Given the description of an element on the screen output the (x, y) to click on. 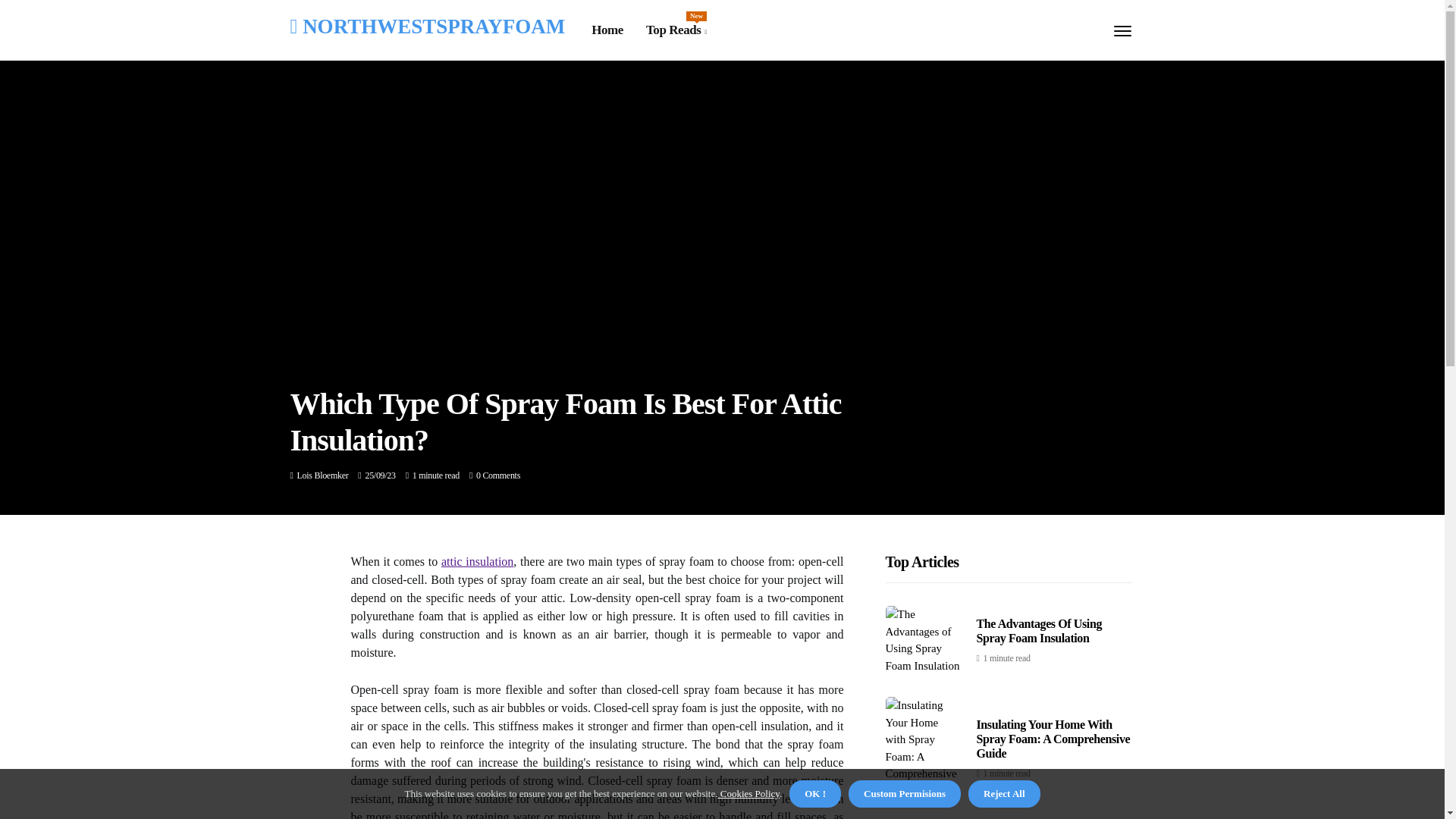
NORTHWESTSPRAYFOAM (426, 26)
Lois Bloemker (323, 475)
Posts by Lois Bloemker (323, 475)
attic insulation (477, 561)
0 Comments (497, 475)
The Advantages Of Using Spray Foam Insulation (1039, 630)
Insulating Your Home With Spray Foam: A Comprehensive Guide (676, 30)
